Given the description of an element on the screen output the (x, y) to click on. 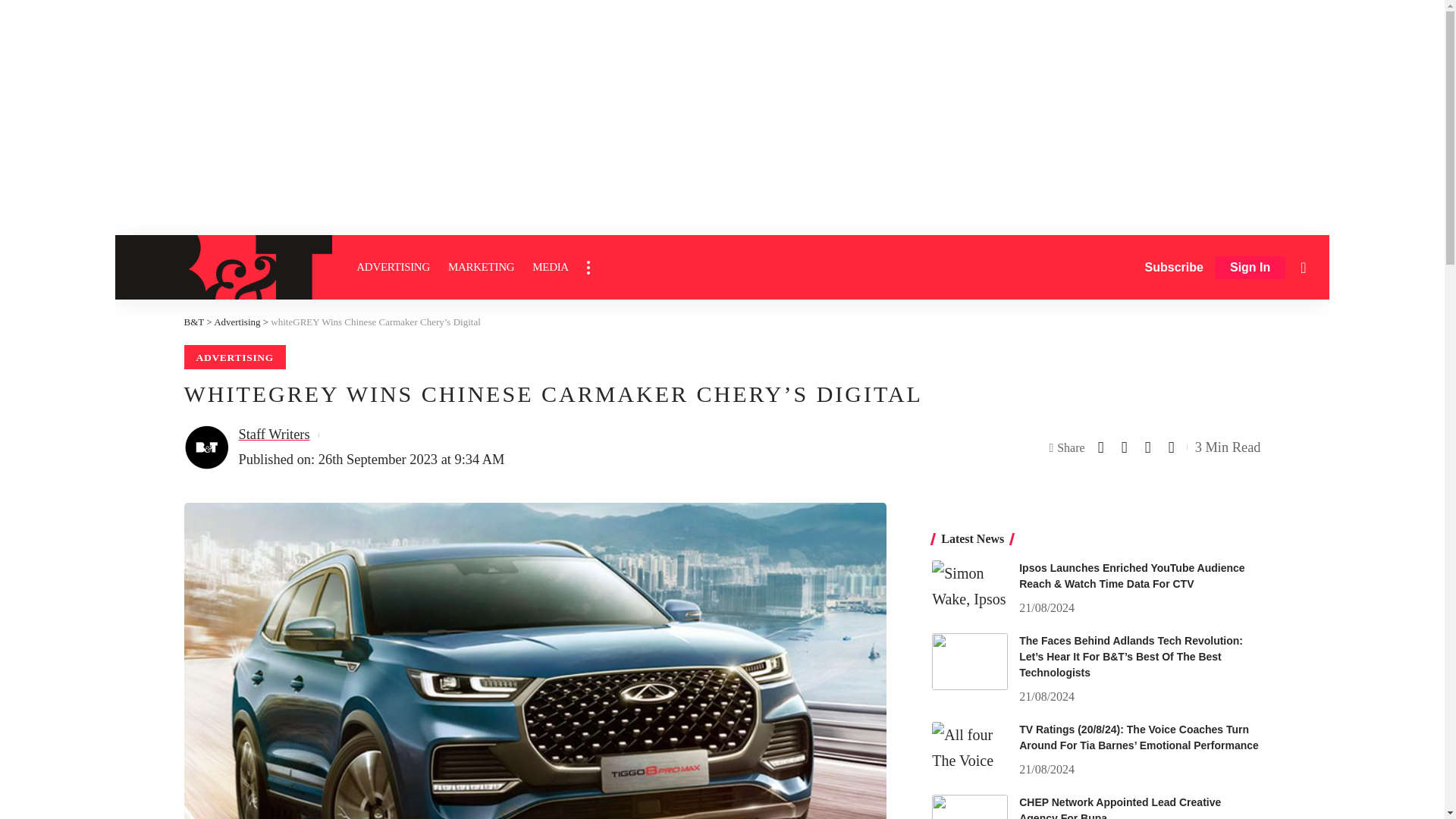
Sign In (1249, 267)
Subscribe (1174, 267)
Go to the Advertising Category archives. (237, 321)
CHEP Network Appointed Lead Creative Agency For Bupa (969, 806)
MARKETING (480, 267)
ADVERTISING (393, 267)
